Given the description of an element on the screen output the (x, y) to click on. 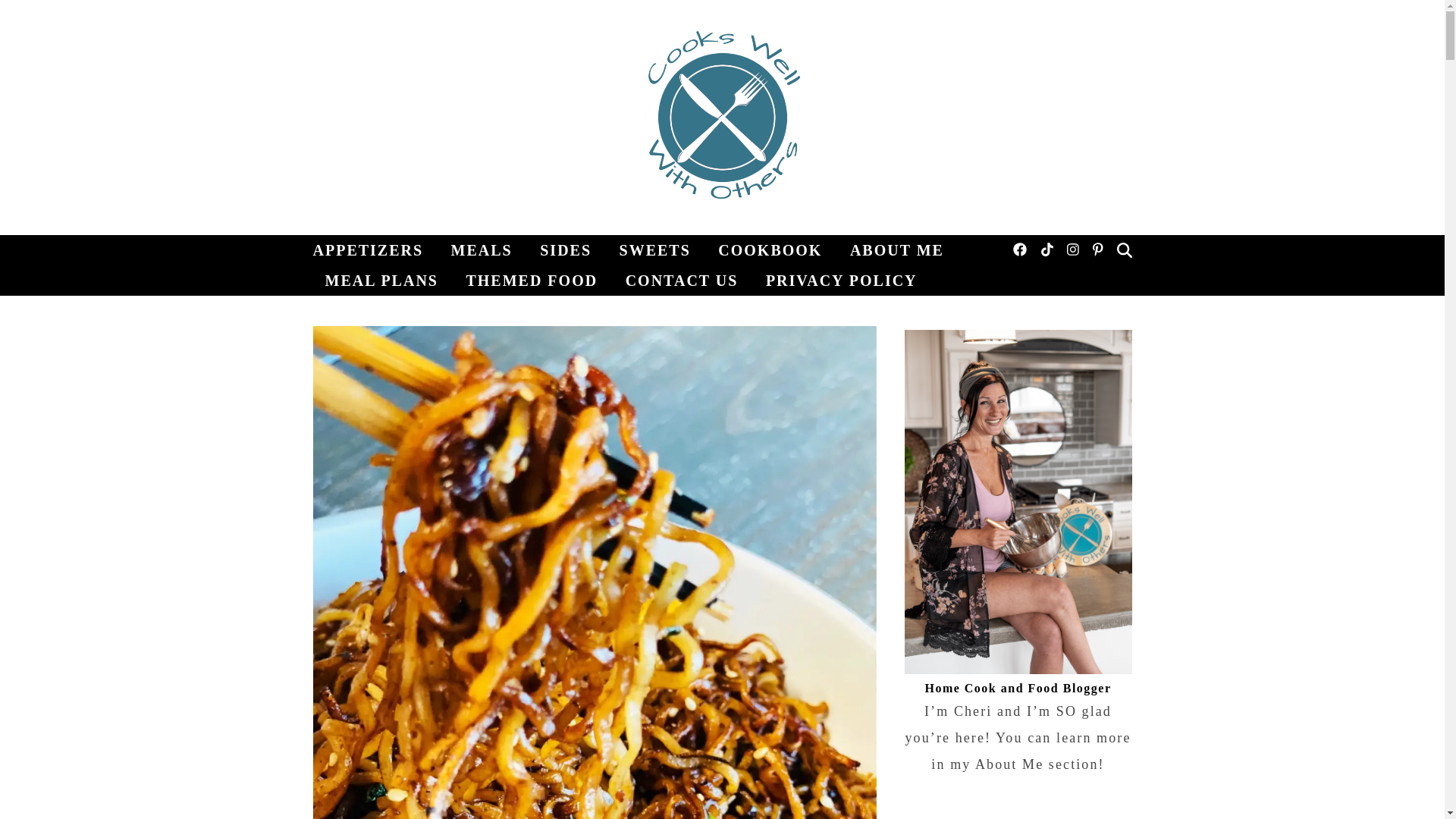
COOKBOOK (770, 250)
ABOUT ME (897, 250)
SWEETS (655, 250)
PRIVACY POLICY (835, 280)
CONTACT US (681, 280)
APPETIZERS (374, 250)
Cooks Well With Others (722, 117)
THEMED FOOD (531, 280)
SIDES (565, 250)
MEALS (481, 250)
MEAL PLANS (381, 280)
